Given the description of an element on the screen output the (x, y) to click on. 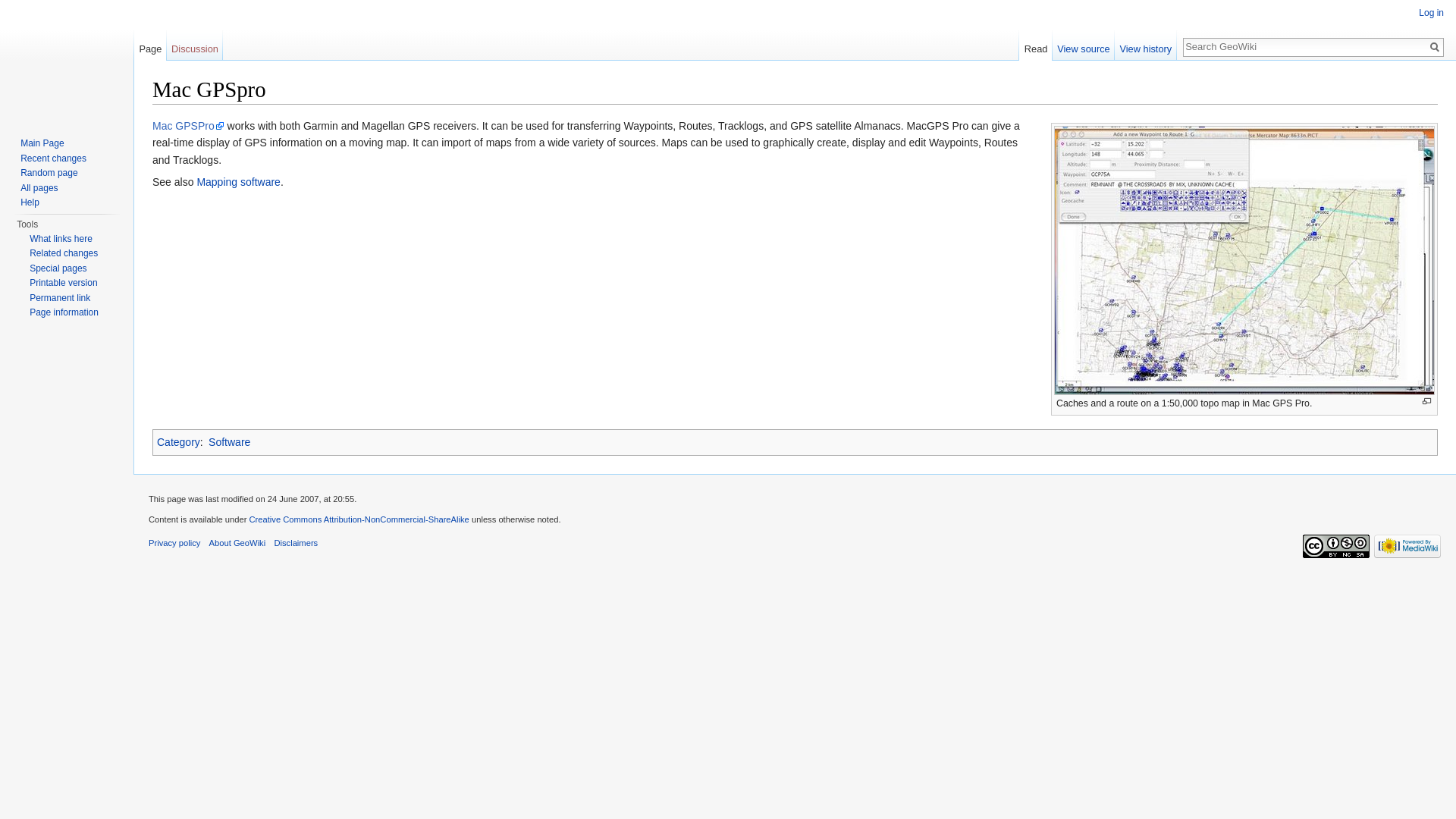
Privacy policy (174, 542)
Mapping software (238, 182)
Discussion (195, 45)
Category (178, 441)
View history (1145, 45)
Search (1434, 46)
Disclaimers (295, 542)
About GeoWiki (237, 542)
Printable version (63, 282)
Mac GPSPro (188, 125)
Mapping software (238, 182)
Special pages (57, 267)
Help (29, 202)
Log in (1431, 12)
Special:Categories (178, 441)
